Given the description of an element on the screen output the (x, y) to click on. 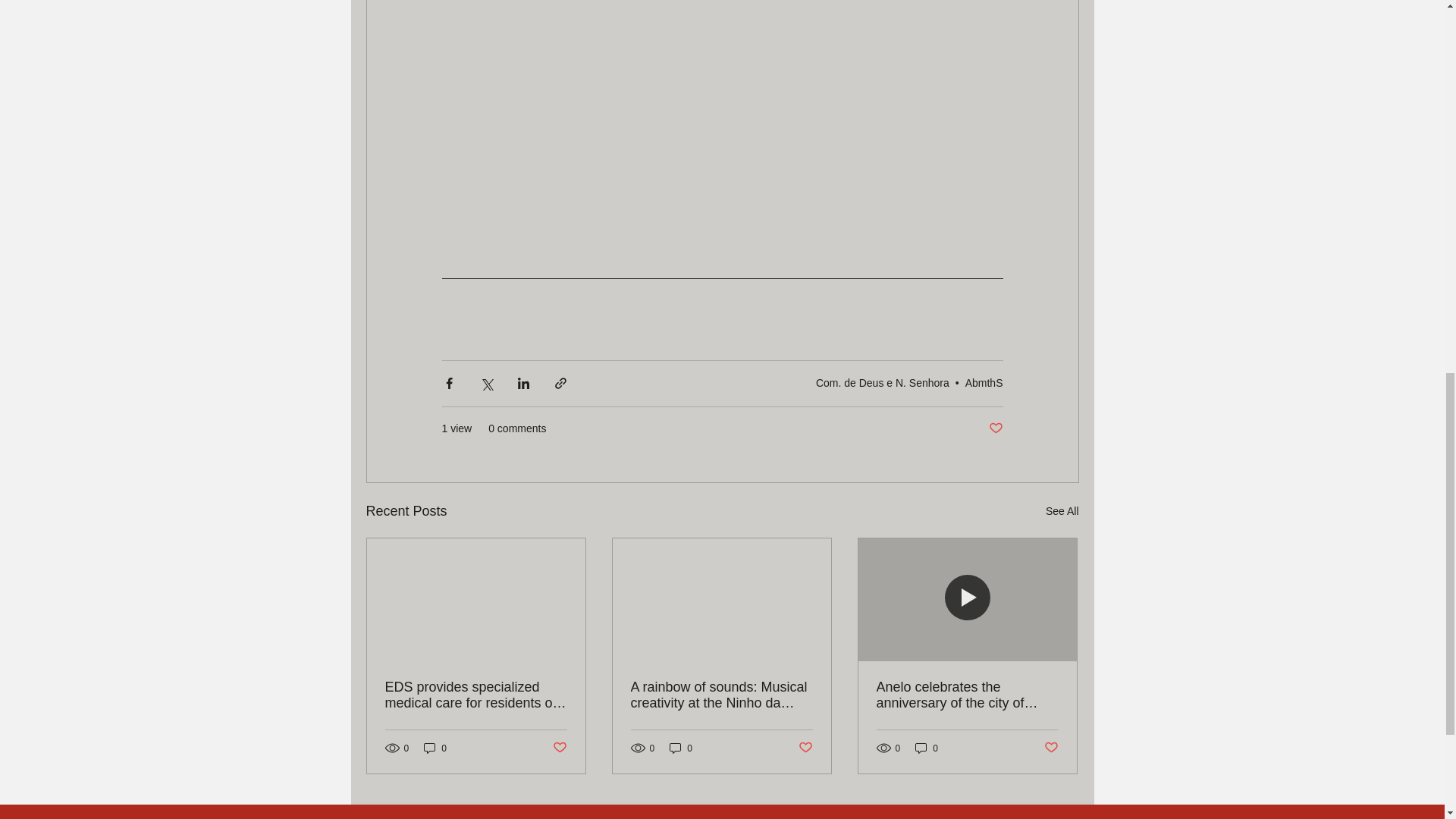
See All (1061, 511)
Post not marked as liked (995, 427)
AbmthS (984, 382)
Com. de Deus e N. Senhora (882, 382)
